Given the description of an element on the screen output the (x, y) to click on. 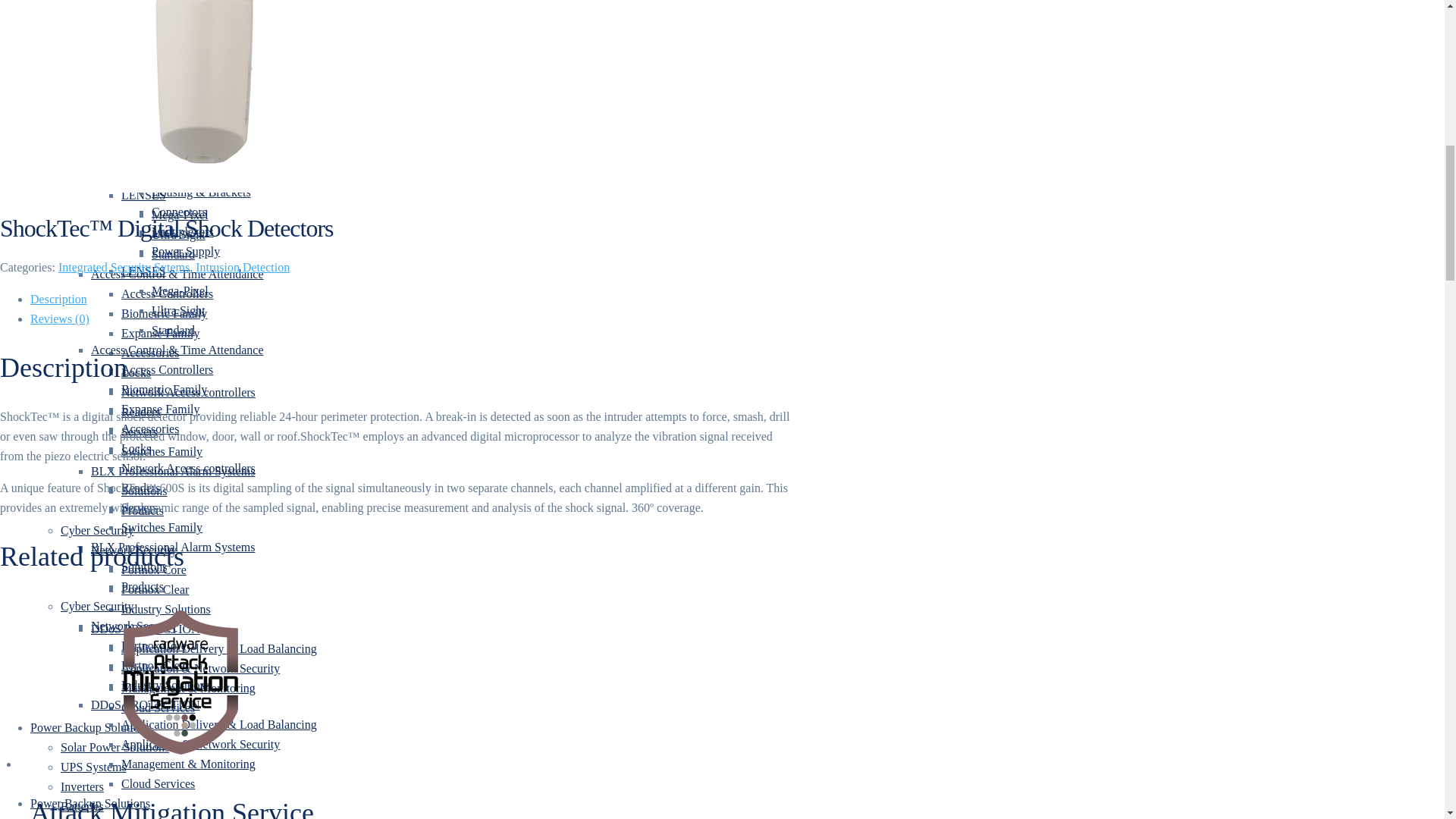
CCTV Analogue Cameras (215, 2)
attackmitigationservice (181, 682)
